Given the description of an element on the screen output the (x, y) to click on. 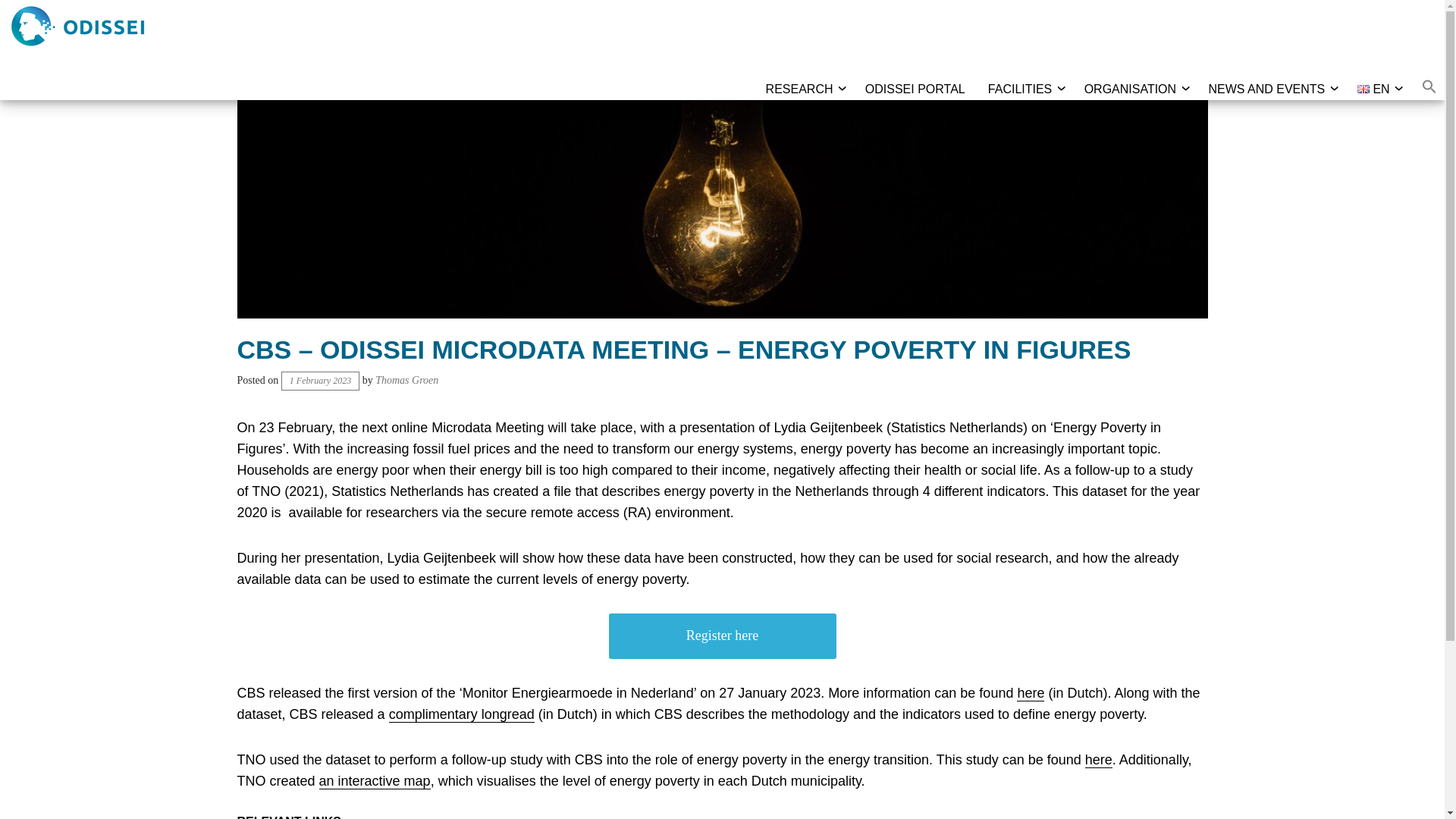
RESEARCH (798, 88)
ODISSEI PORTAL (914, 88)
FACILITIES (1019, 88)
